Given the description of an element on the screen output the (x, y) to click on. 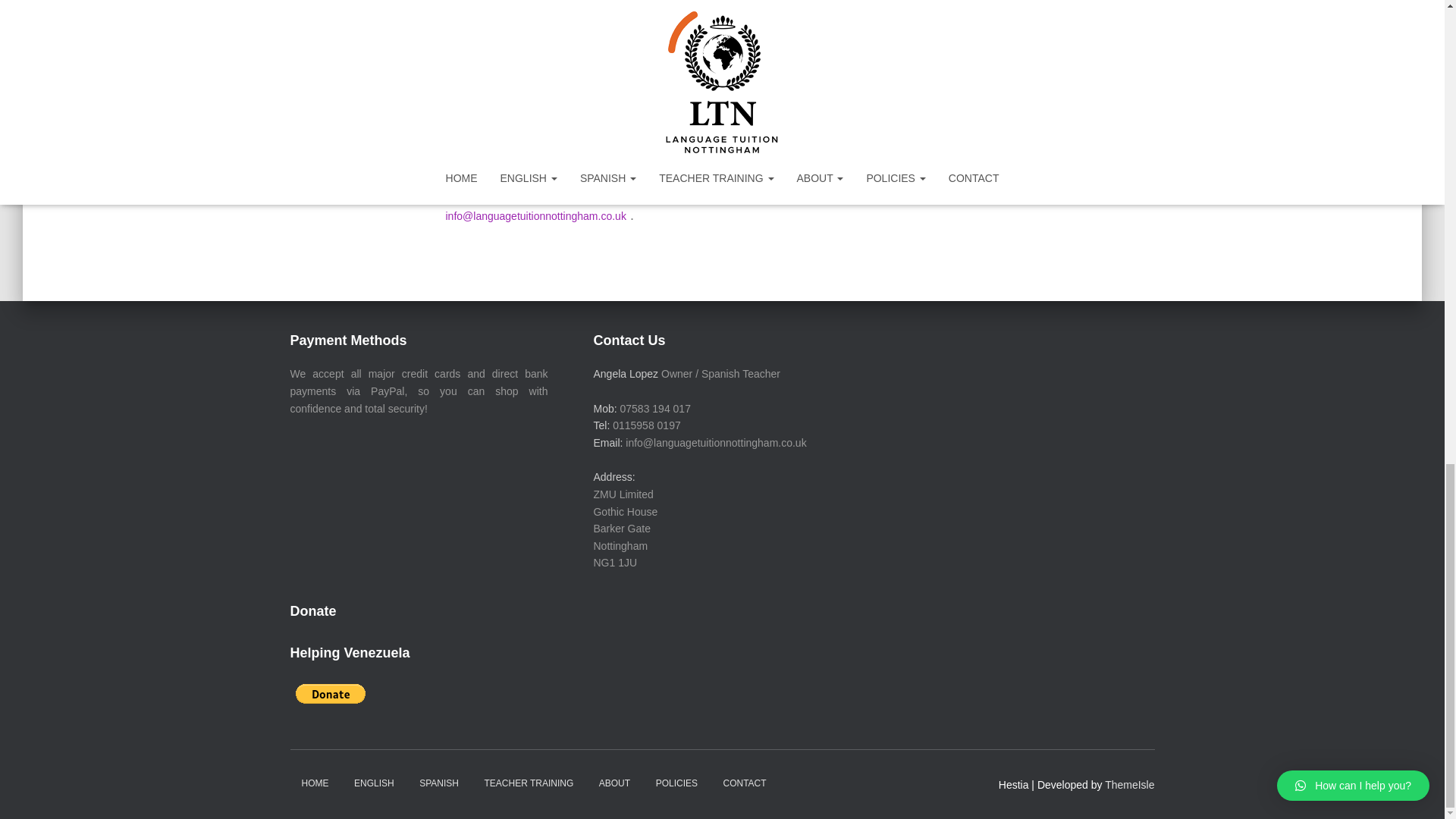
ENGLISH (374, 783)
HOME (314, 783)
